Given the description of an element on the screen output the (x, y) to click on. 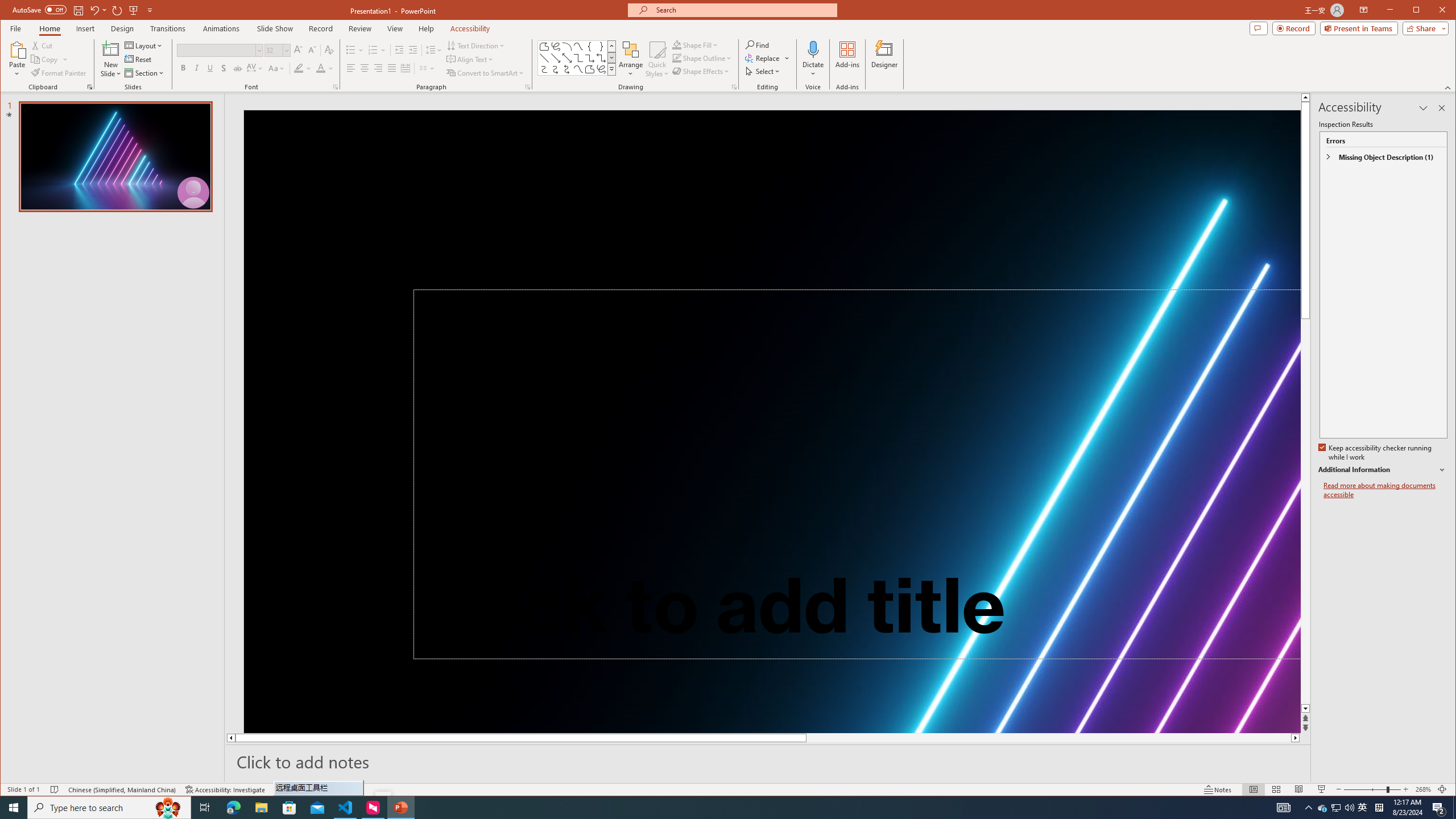
Connector: Elbow Double-Arrow (601, 57)
